Given the description of an element on the screen output the (x, y) to click on. 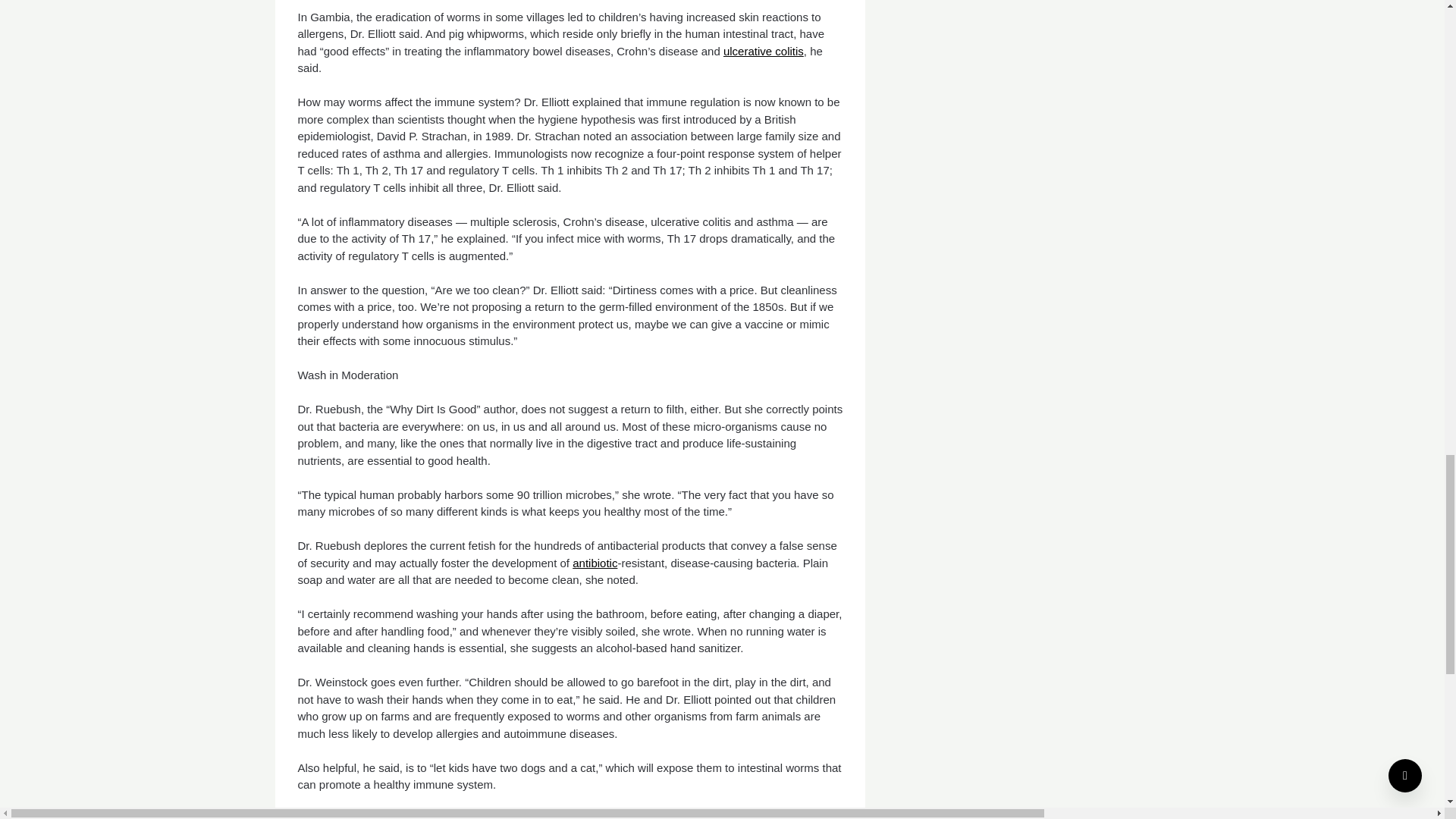
ulcerative colitis (763, 51)
Recent and archival health news about antibiotics. (594, 562)
antibiotic (594, 562)
